Given the description of an element on the screen output the (x, y) to click on. 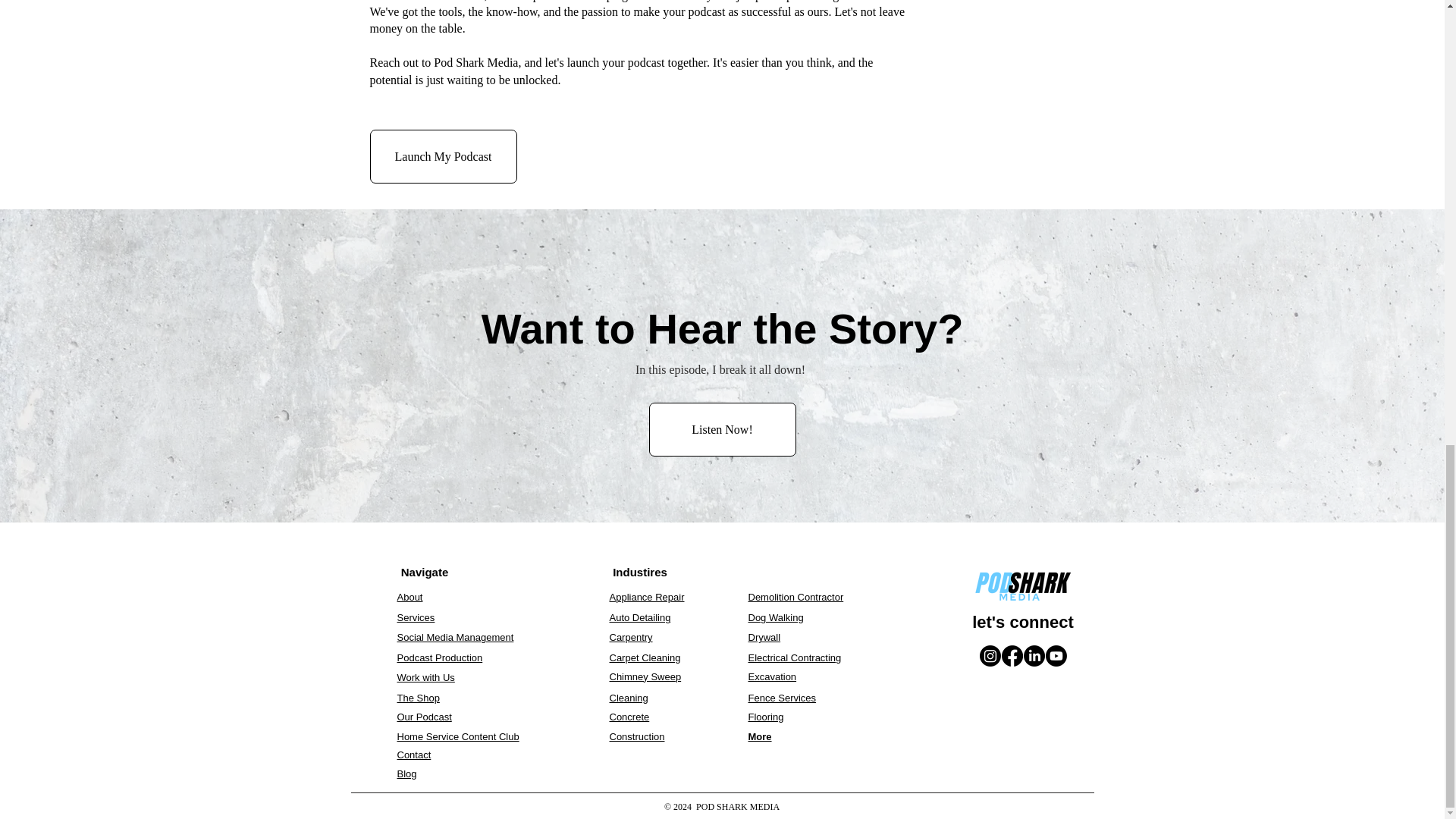
Podcast Production (440, 657)
Chimney Sweep (645, 676)
Excavation (772, 676)
Home Service Content Club (458, 736)
About (410, 596)
Carpet Cleaning (645, 657)
Fence Services (781, 697)
Electrical Contracting (794, 657)
Services (416, 617)
More (759, 736)
